Given the description of an element on the screen output the (x, y) to click on. 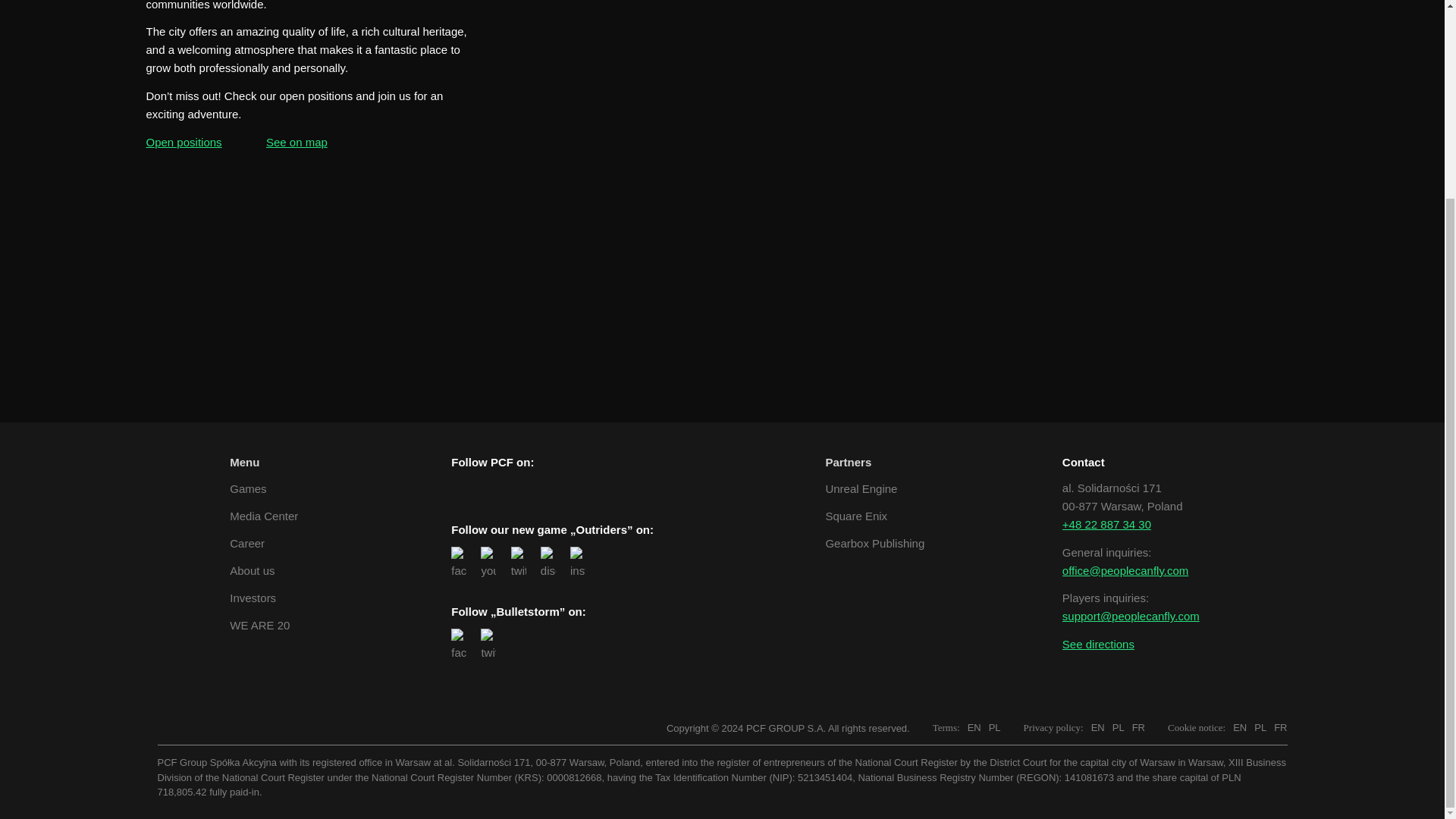
Twitter (519, 486)
Career (264, 543)
Youtube (580, 486)
See on map (296, 141)
Open positions (183, 141)
WE ARE 20 (264, 625)
Facebook (458, 486)
LinkedIn (488, 486)
Gearbox Publishing (874, 543)
Investors (264, 598)
Square Enix (874, 516)
Media Center (264, 516)
About us (264, 570)
Games (264, 488)
Unreal Engine (874, 488)
